Given the description of an element on the screen output the (x, y) to click on. 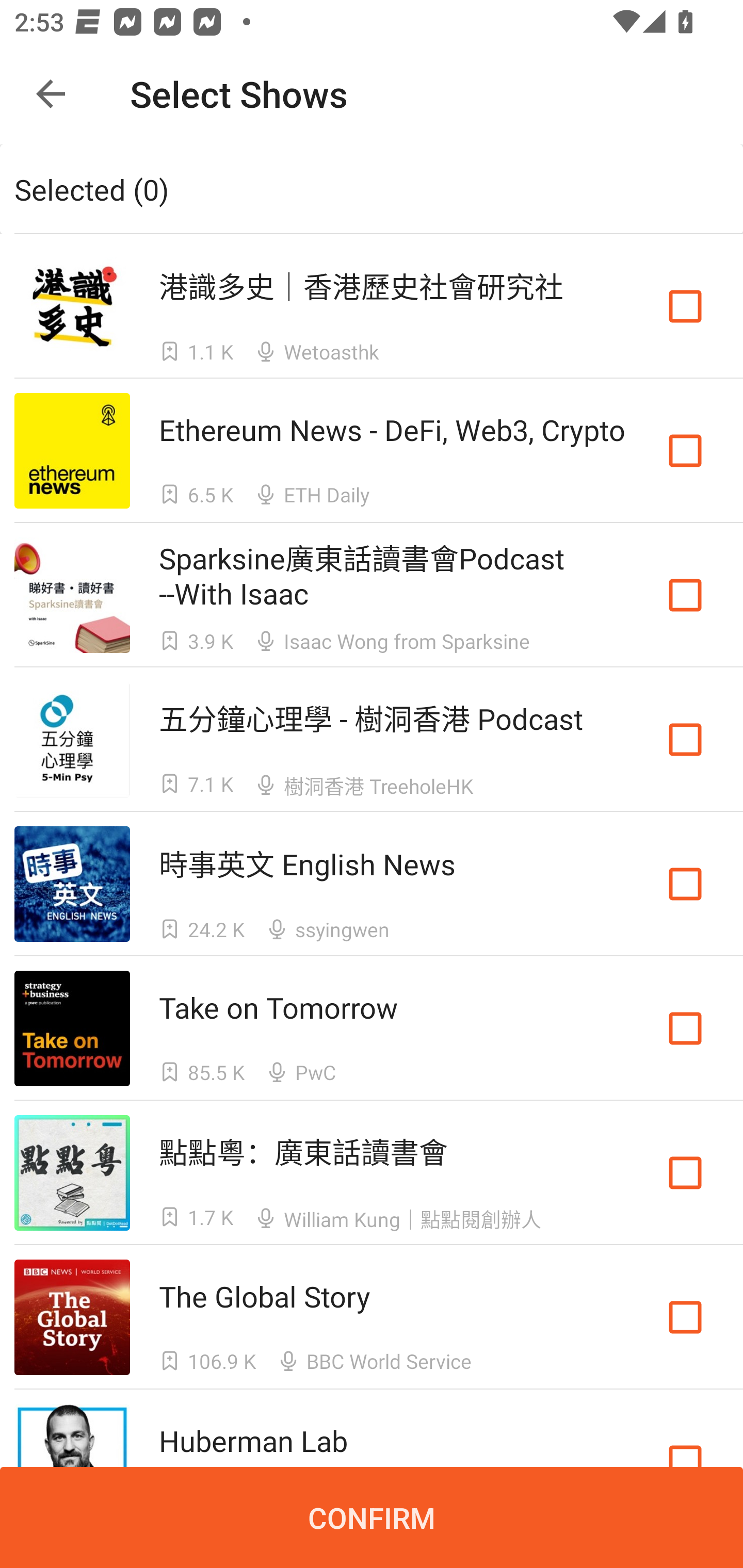
Navigate up (50, 93)
港識多史｜香港歷史社會研究社 港識多史｜香港歷史社會研究社  1.1 K  Wetoasthk (371, 305)
Take on Tomorrow Take on Tomorrow  85.5 K  PwC (371, 1028)
CONFIRM (371, 1517)
